Given the description of an element on the screen output the (x, y) to click on. 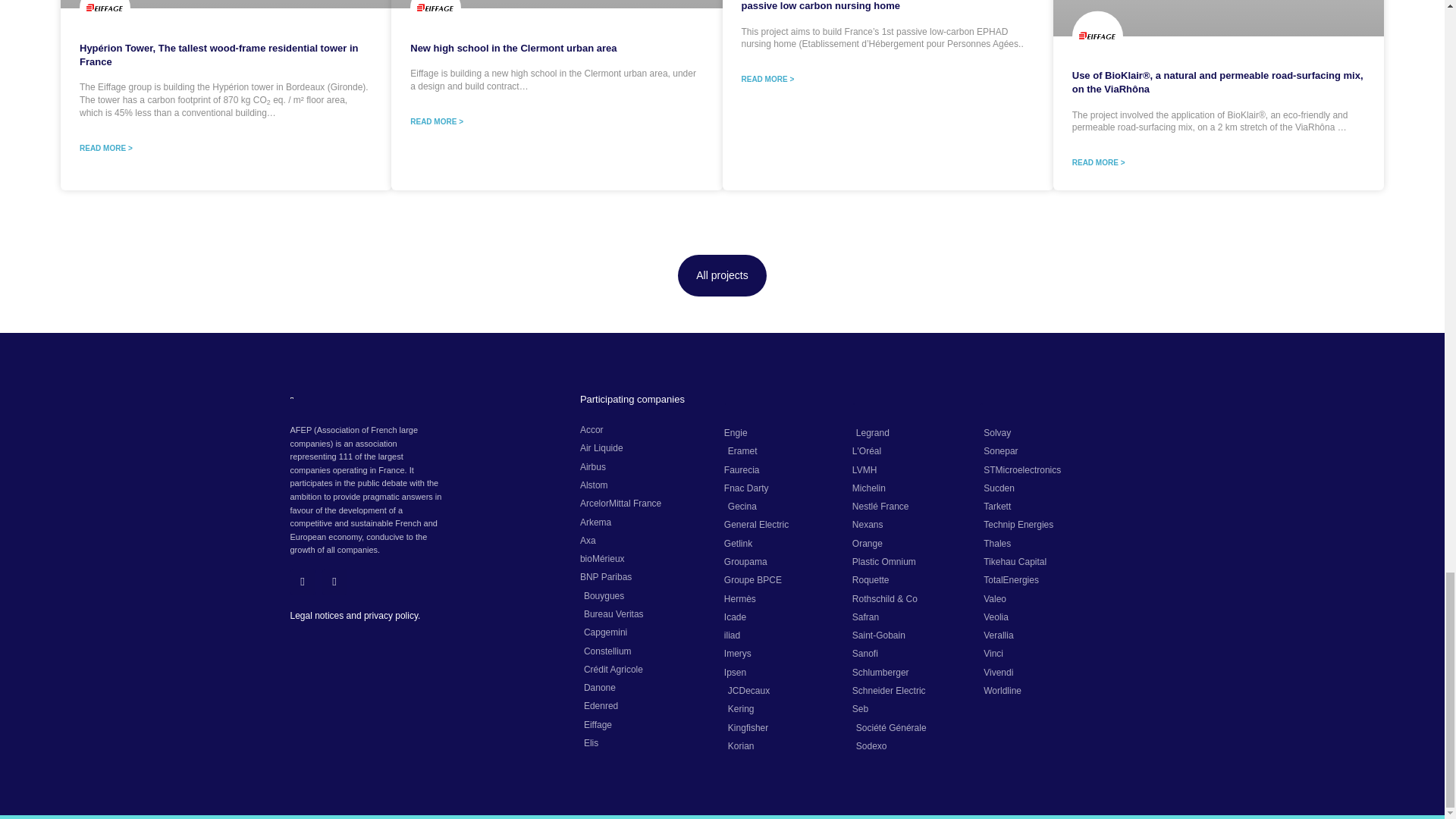
All projects (721, 275)
Twitter (301, 581)
New high school in the Clermont urban area (512, 48)
